Given the description of an element on the screen output the (x, y) to click on. 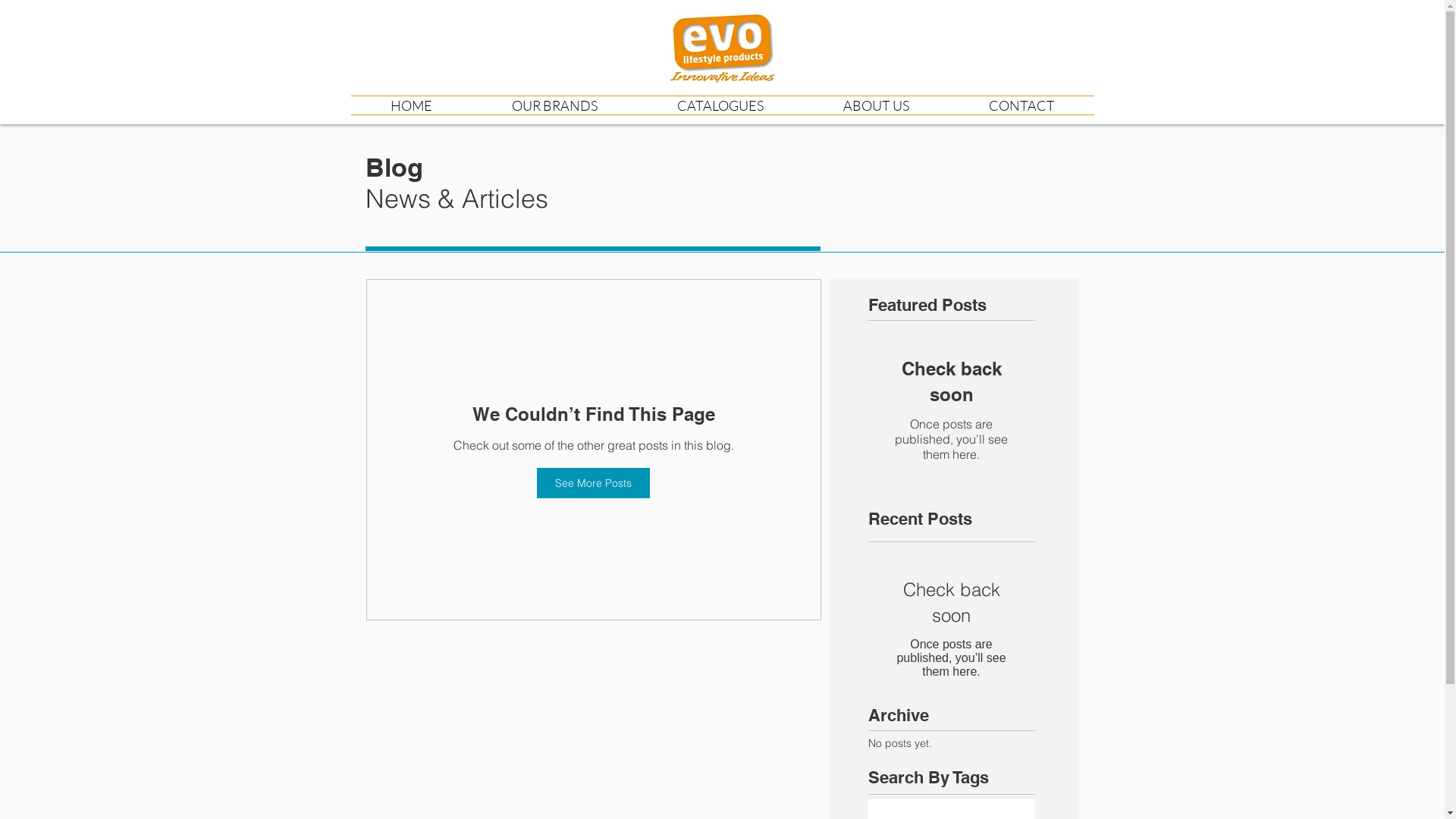
ABOUT US Element type: text (876, 105)
HOME Element type: text (410, 105)
OUR BRANDS Element type: text (554, 105)
CONTACT Element type: text (1021, 105)
See More Posts Element type: text (592, 482)
